Given the description of an element on the screen output the (x, y) to click on. 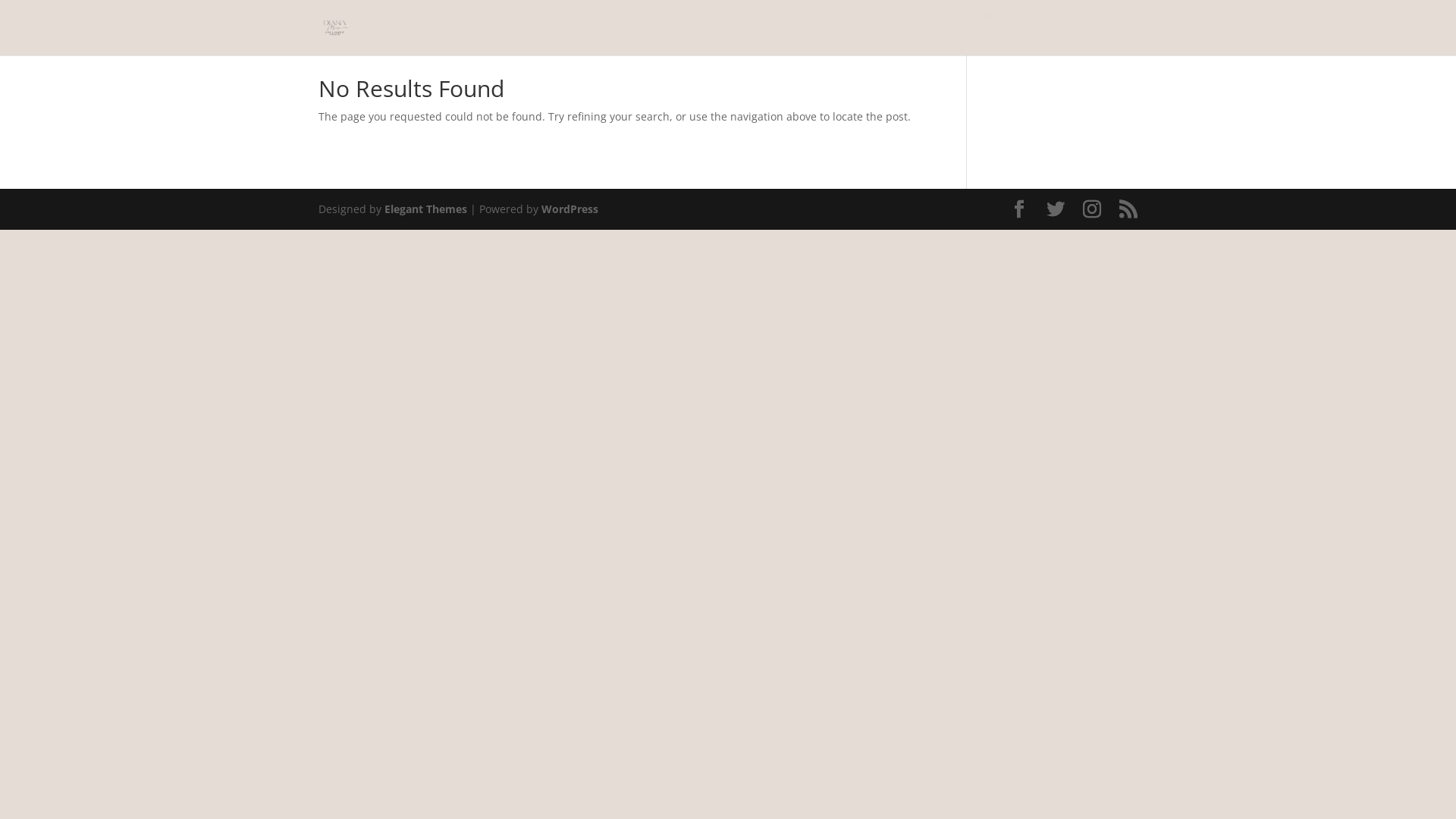
Bridal make-up Element type: text (640, 22)
Elegant Themes Element type: text (425, 208)
Home Element type: text (371, 22)
Elysian Hair and Make up Element type: text (473, 22)
WordPress Element type: text (569, 208)
Featured make-up Element type: text (746, 22)
Gallery Element type: text (990, 22)
Blog Element type: text (569, 22)
Formal and other make-up Element type: text (883, 22)
Special Occasion make-up Element type: text (423, 44)
